Given the description of an element on the screen output the (x, y) to click on. 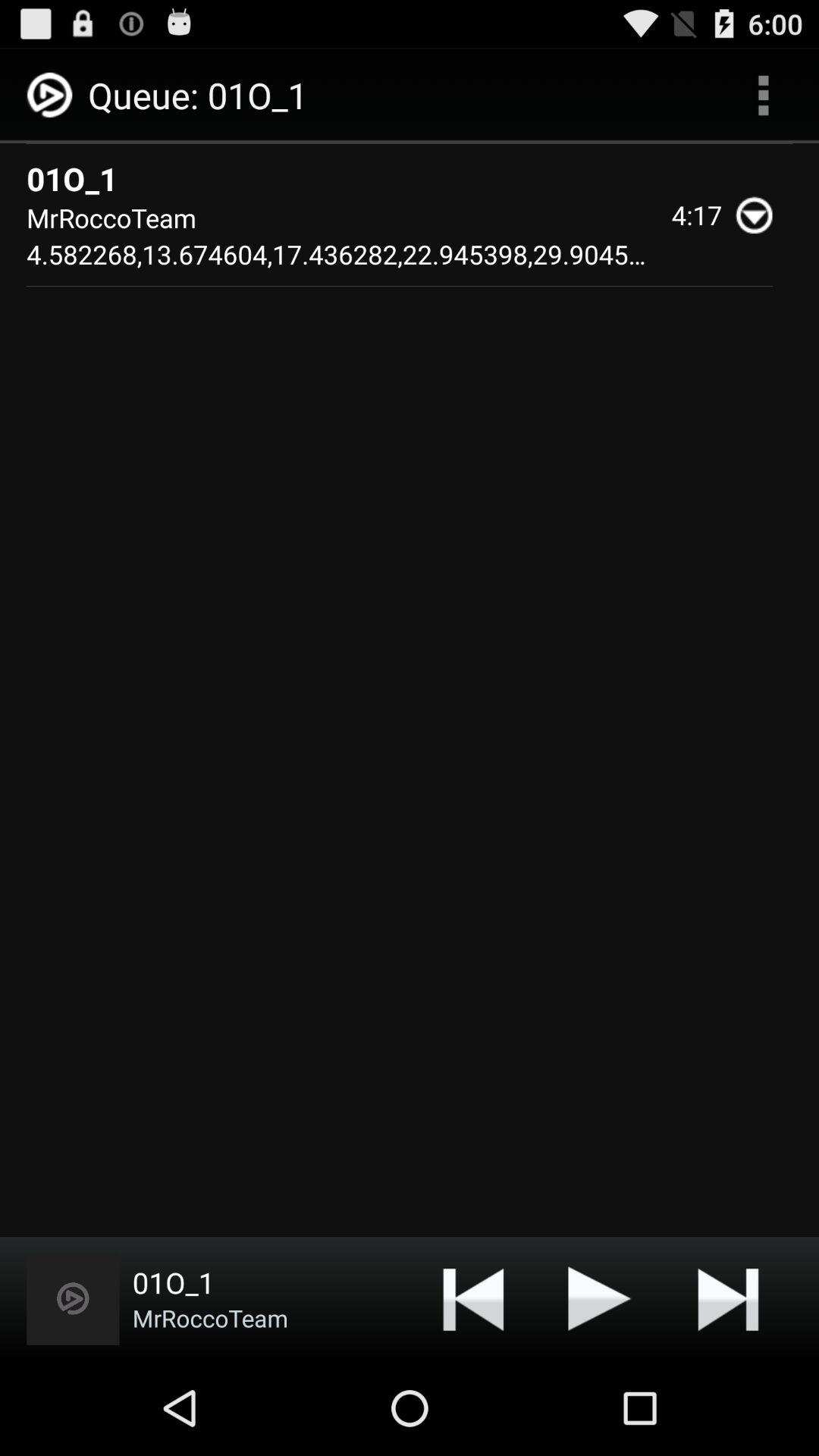
play (600, 1298)
